Given the description of an element on the screen output the (x, y) to click on. 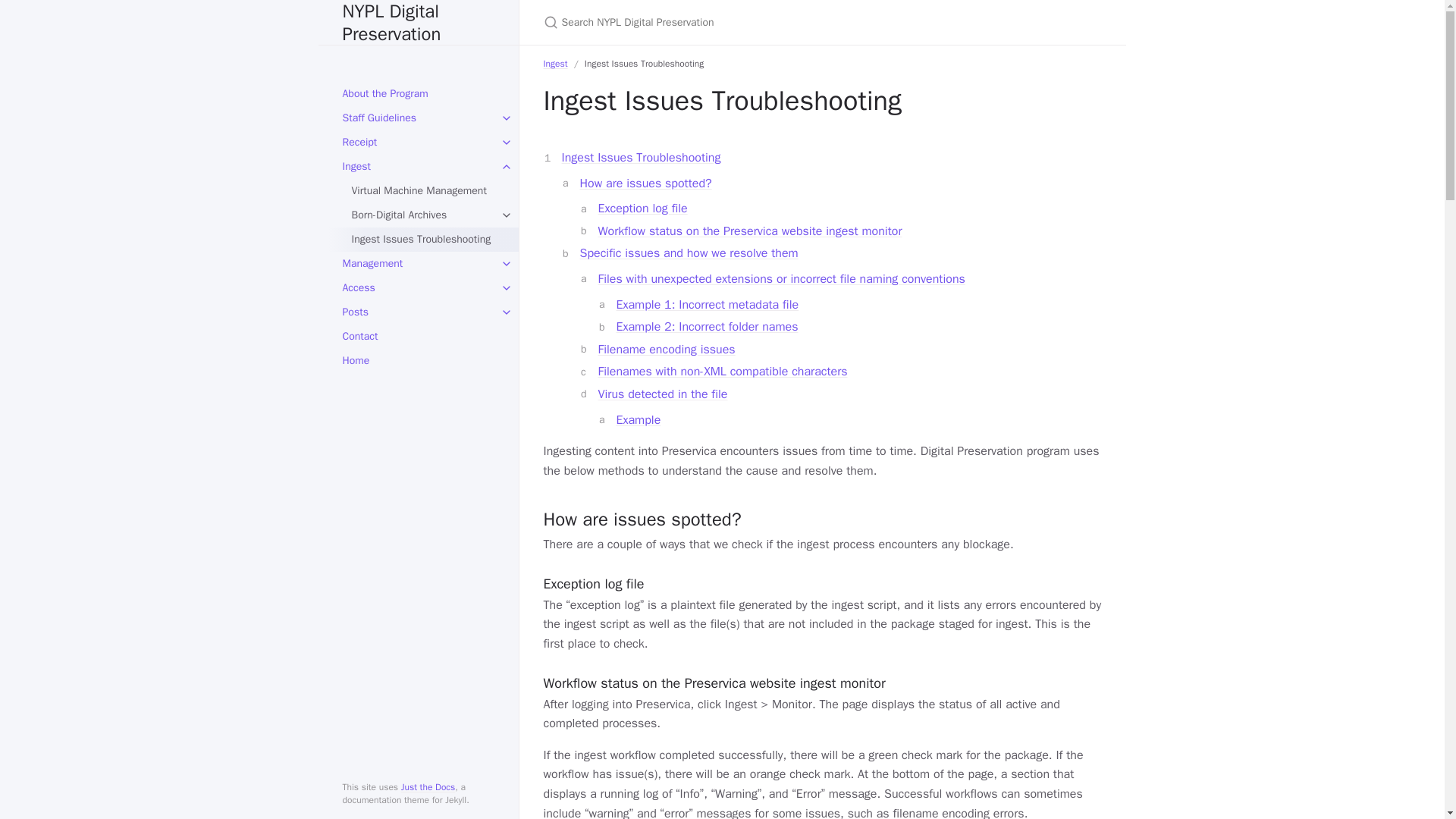
About the Program (418, 93)
Ingest Issues Troubleshooting (640, 157)
Home (418, 360)
Staff Guidelines (418, 118)
Just the Docs (428, 787)
Ingest Issues Troubleshooting (422, 239)
Ingest (418, 166)
NYPL Digital Preservation (418, 22)
Workflow status on the Preservica website ingest monitor (748, 231)
How are issues spotted? (645, 183)
